Given the description of an element on the screen output the (x, y) to click on. 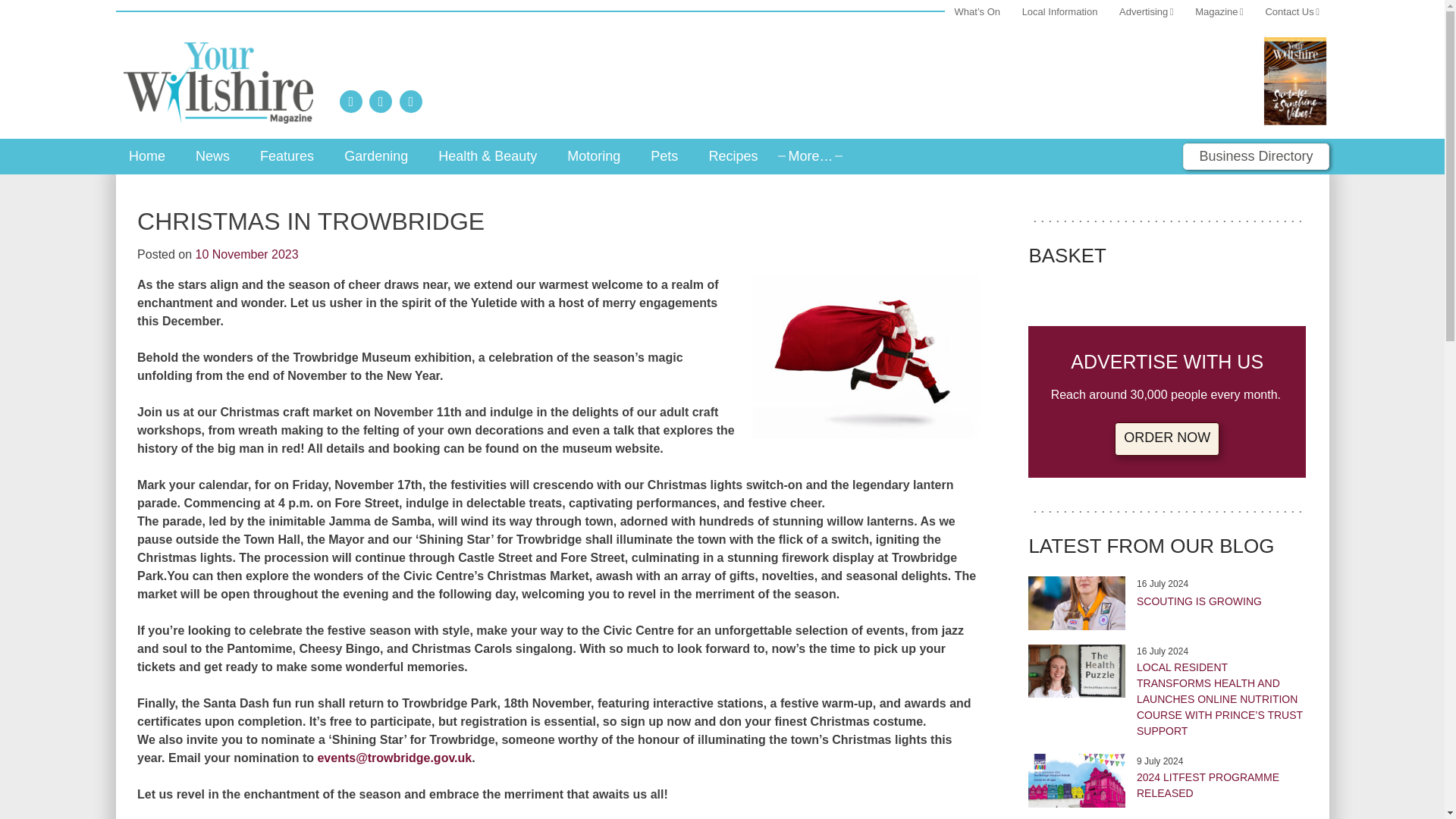
Scouting Is Growing (1076, 602)
Contact Us (1292, 12)
Gardening (375, 155)
Your Wiltshire Magazine on Facebook (412, 101)
Motoring (593, 155)
Features (286, 155)
Read the latest single issue of the Your Wiltshire online (1294, 80)
Local Information (1058, 12)
10 November 2023 (246, 254)
News (212, 155)
Home (146, 155)
Magazine (1219, 12)
Business Directory (1255, 156)
Call Your Wiltshire 01249 821 420 (350, 101)
